Given the description of an element on the screen output the (x, y) to click on. 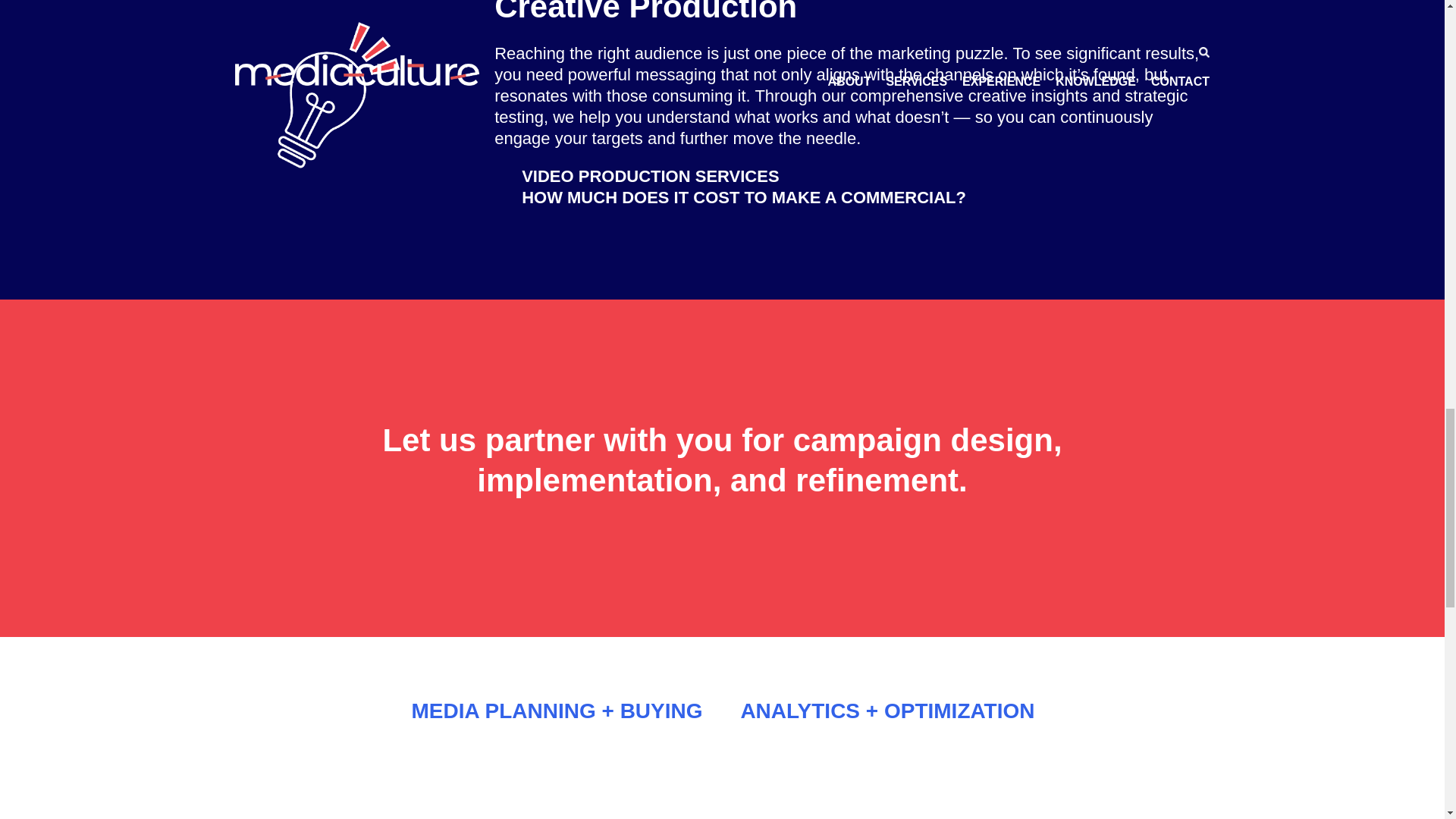
Creative Insights Icon (338, 97)
VIDEO PRODUCTION SERVICES (650, 176)
HOW MUCH DOES IT COST TO MAKE A COMMERCIAL? (743, 197)
